Given the description of an element on the screen output the (x, y) to click on. 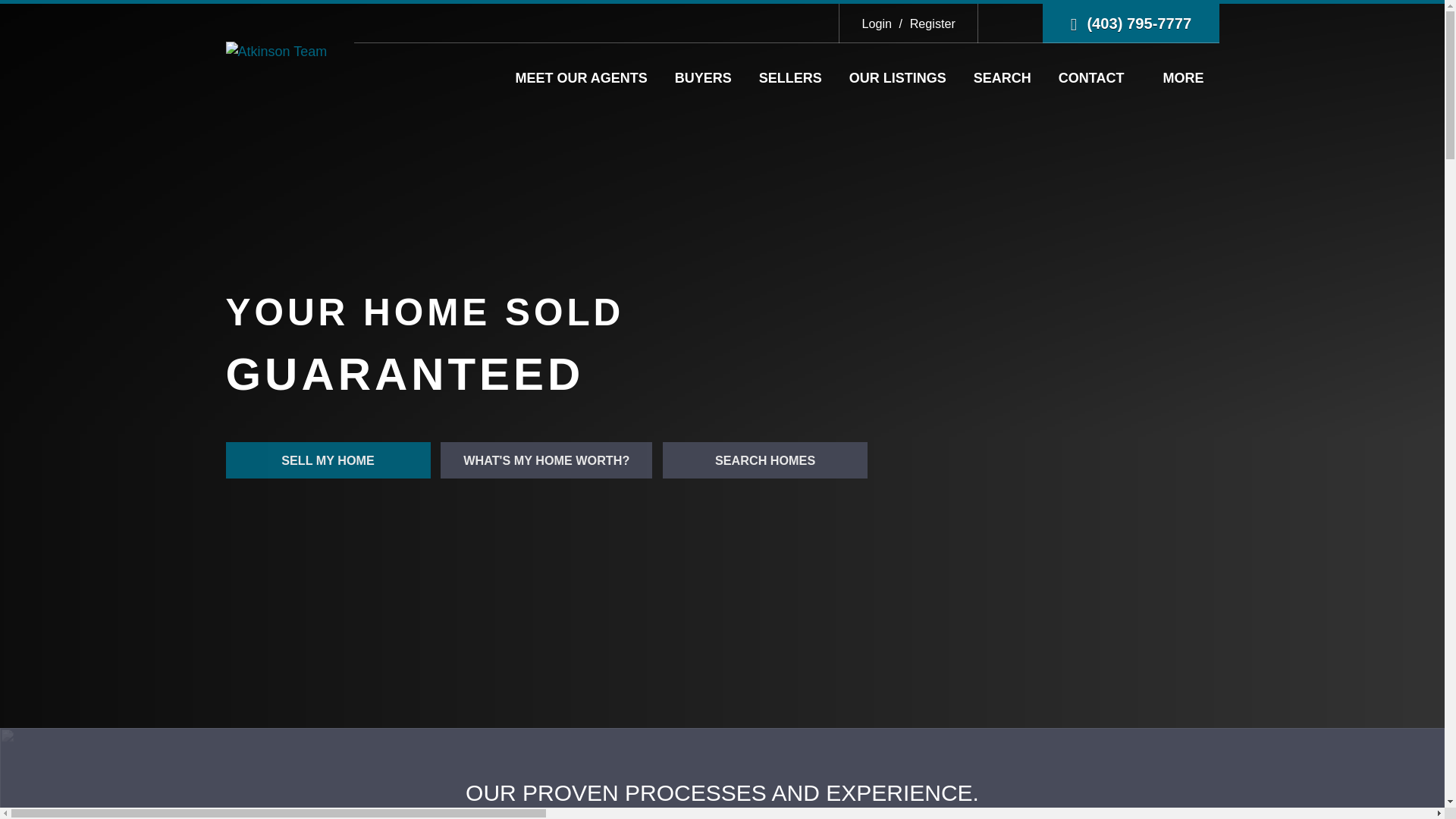
(403) 795-7777 Element type: text (1130, 23)
Select Language Element type: hover (1010, 23)
MEET OUR AGENTS Element type: text (580, 77)
WHAT'S MY HOME WORTH? Element type: text (546, 460)
Register Element type: text (925, 23)
SEARCH HOMES Element type: text (764, 460)
SELLERS Element type: text (790, 77)
SEARCH Element type: text (1002, 77)
MORE Element type: text (1178, 77)
CONTACT Element type: text (1091, 77)
SELL MY HOME Element type: text (327, 460)
BUYERS Element type: text (702, 77)
Login Element type: text (876, 23)
OUR LISTINGS Element type: text (897, 77)
Home Page Element type: hover (276, 50)
